Given the description of an element on the screen output the (x, y) to click on. 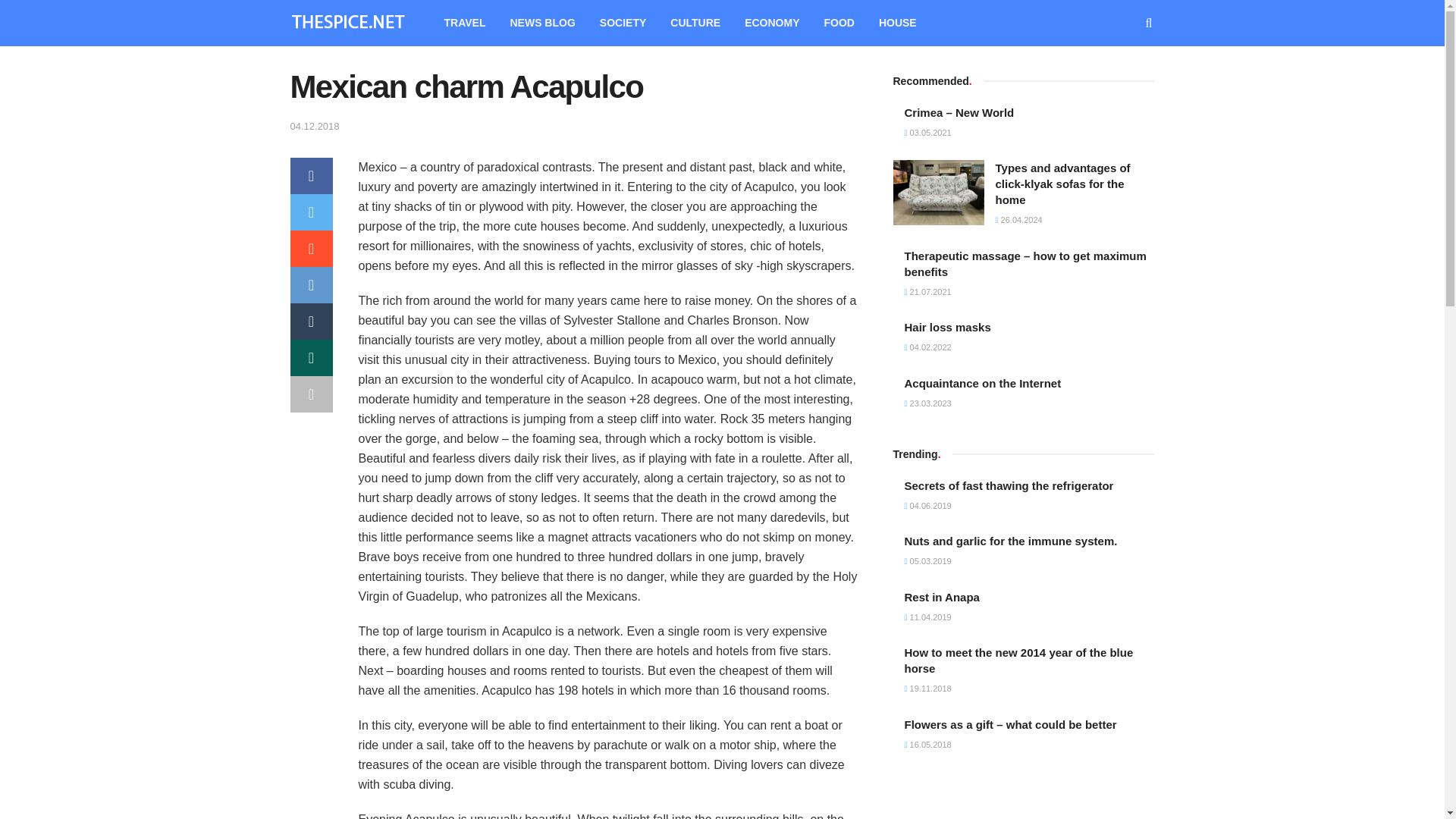
NEWS BLOG (541, 22)
FOOD (838, 22)
HOUSE (897, 22)
CULTURE (695, 22)
TRAVEL (464, 22)
SOCIETY (623, 22)
ECONOMY (771, 22)
04.12.2018 (314, 125)
